Given the description of an element on the screen output the (x, y) to click on. 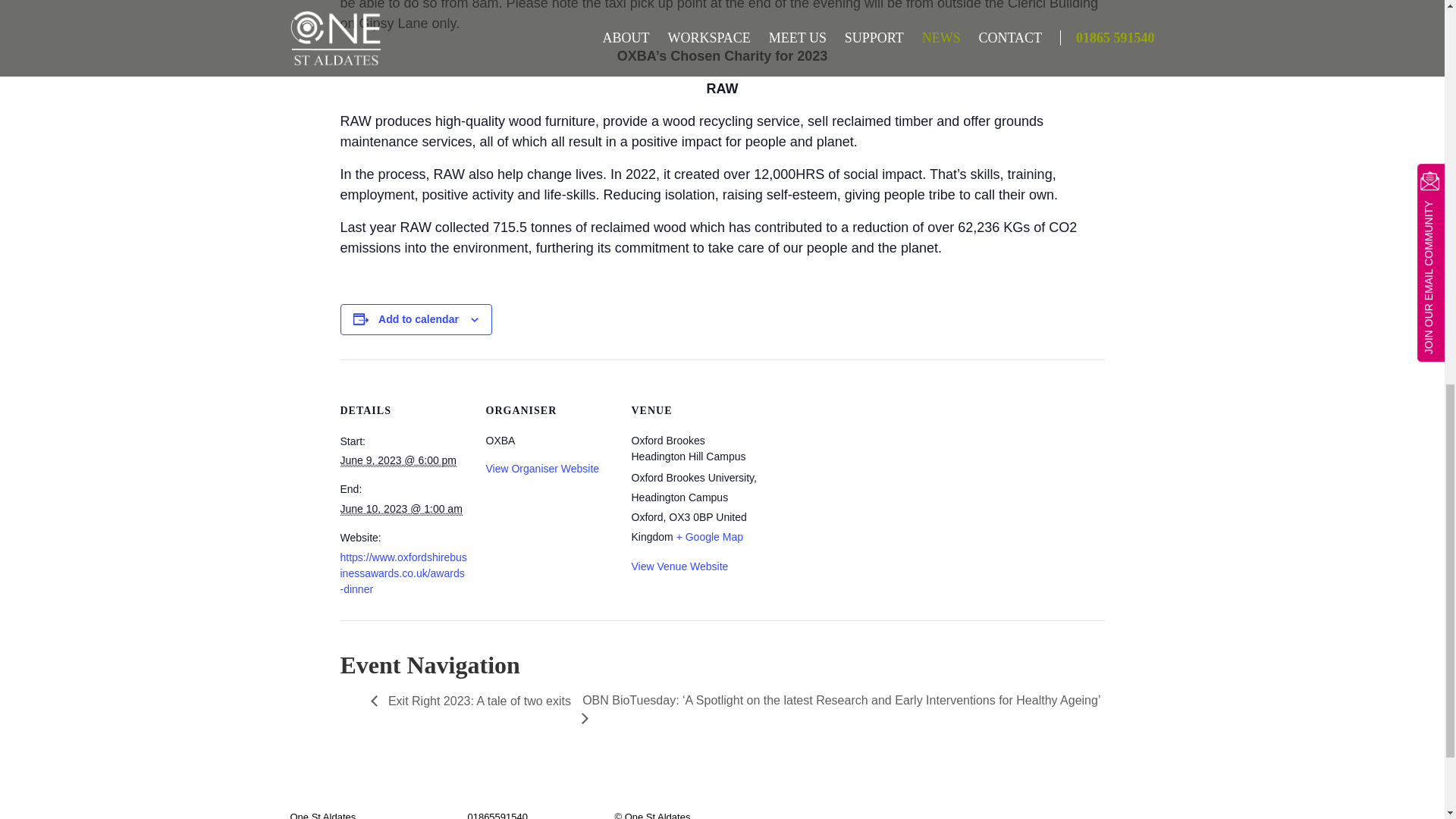
2023-06-09 (398, 460)
View Venue Website (679, 566)
Add to calendar (418, 318)
Exit Right 2023: A tale of two exits (469, 708)
Click to view a Google Map (709, 536)
View Organiser Website (541, 468)
2023-06-10 (400, 508)
